Given the description of an element on the screen output the (x, y) to click on. 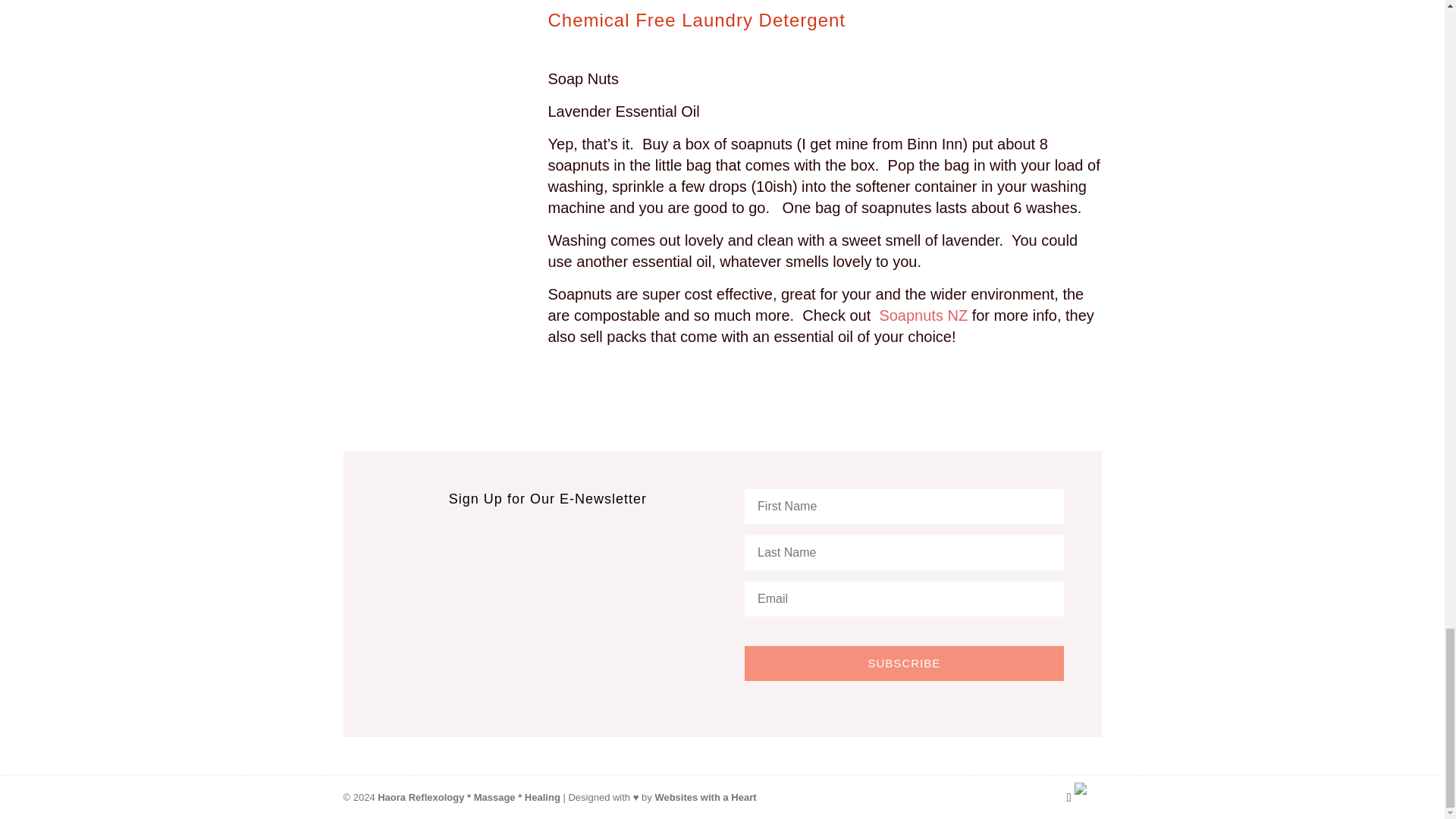
Soapnuts NZ (923, 315)
Websites with a Heart (704, 797)
SUBSCRIBE (903, 662)
